Given the description of an element on the screen output the (x, y) to click on. 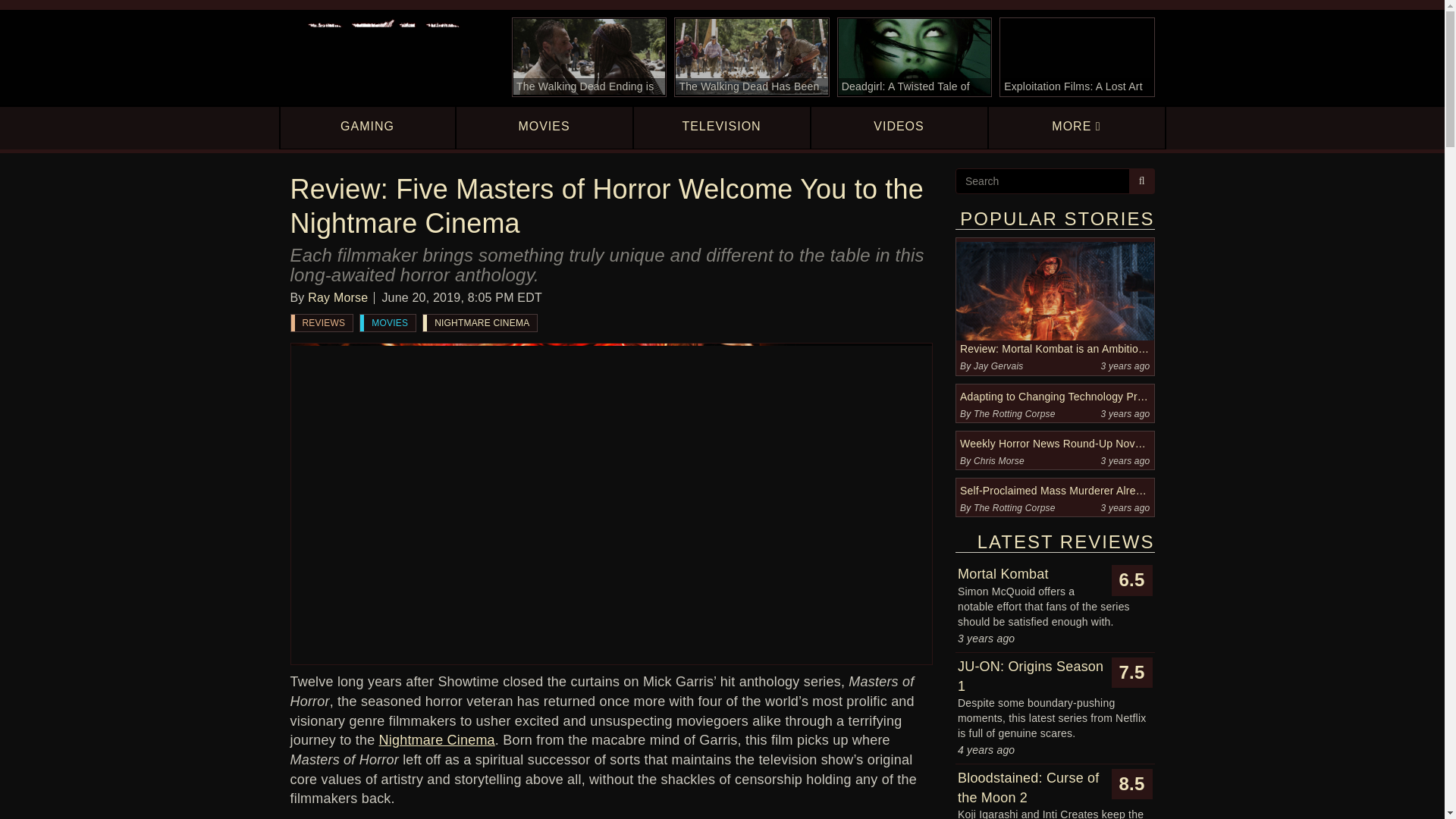
REVIEWS (322, 322)
Deadgirl: A Twisted Tale of Lust and "True" Love (914, 57)
Exploitation Films: A Lost Art and Genre of Decades Past (1076, 57)
MOVIES (386, 322)
Ray Morse (337, 297)
Nightmare Cinema (436, 739)
NIGHTMARE CINEMA (480, 322)
